Given the description of an element on the screen output the (x, y) to click on. 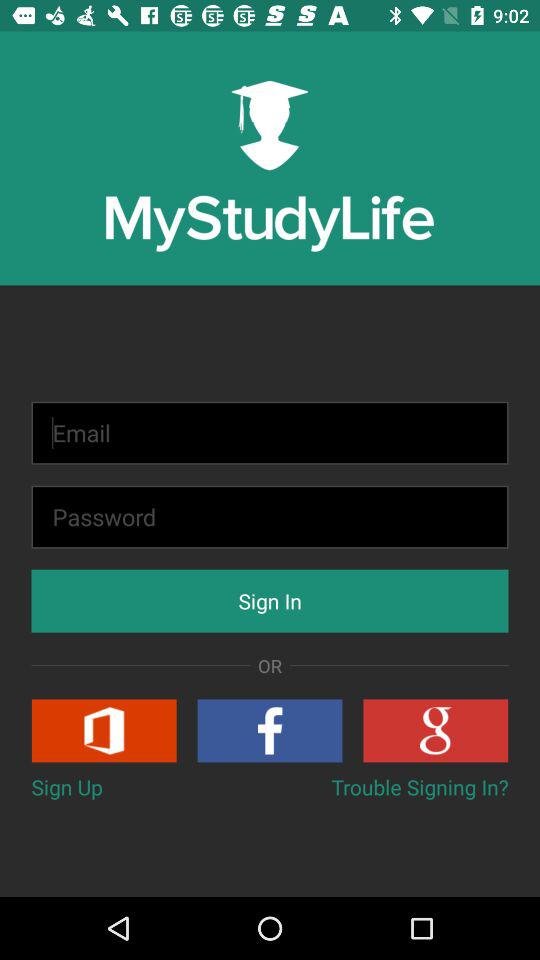
sign up button (103, 730)
